Given the description of an element on the screen output the (x, y) to click on. 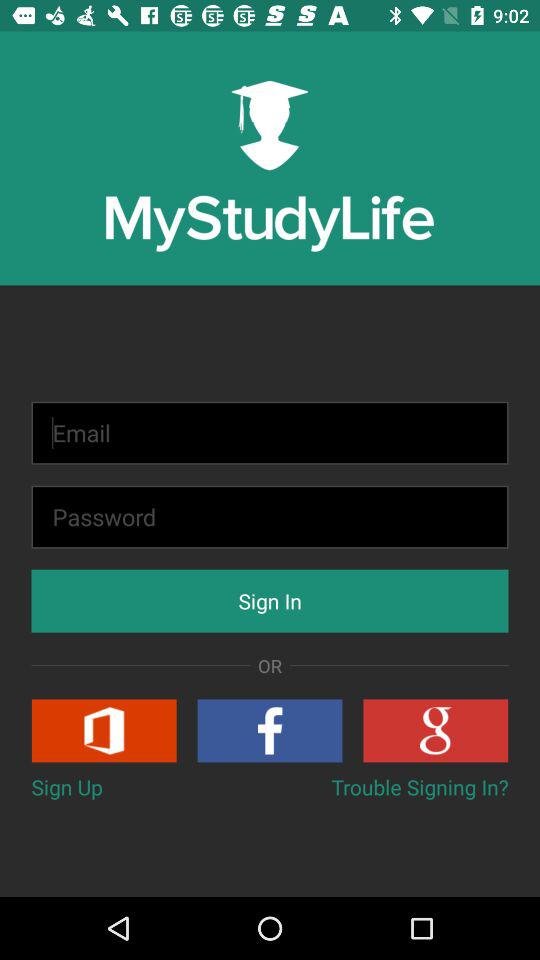
sign up button (103, 730)
